Given the description of an element on the screen output the (x, y) to click on. 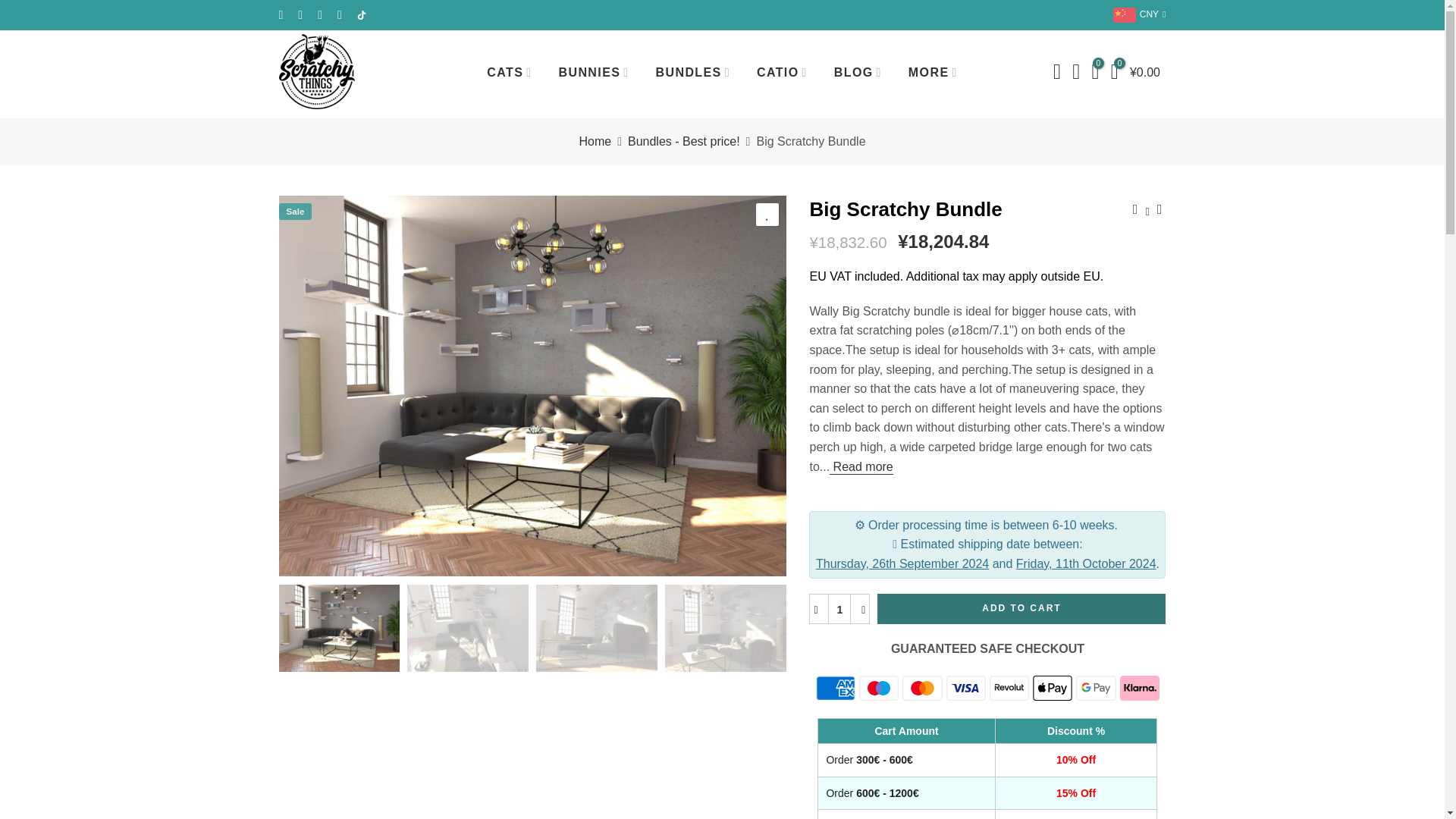
CATS (509, 72)
